Given the description of an element on the screen output the (x, y) to click on. 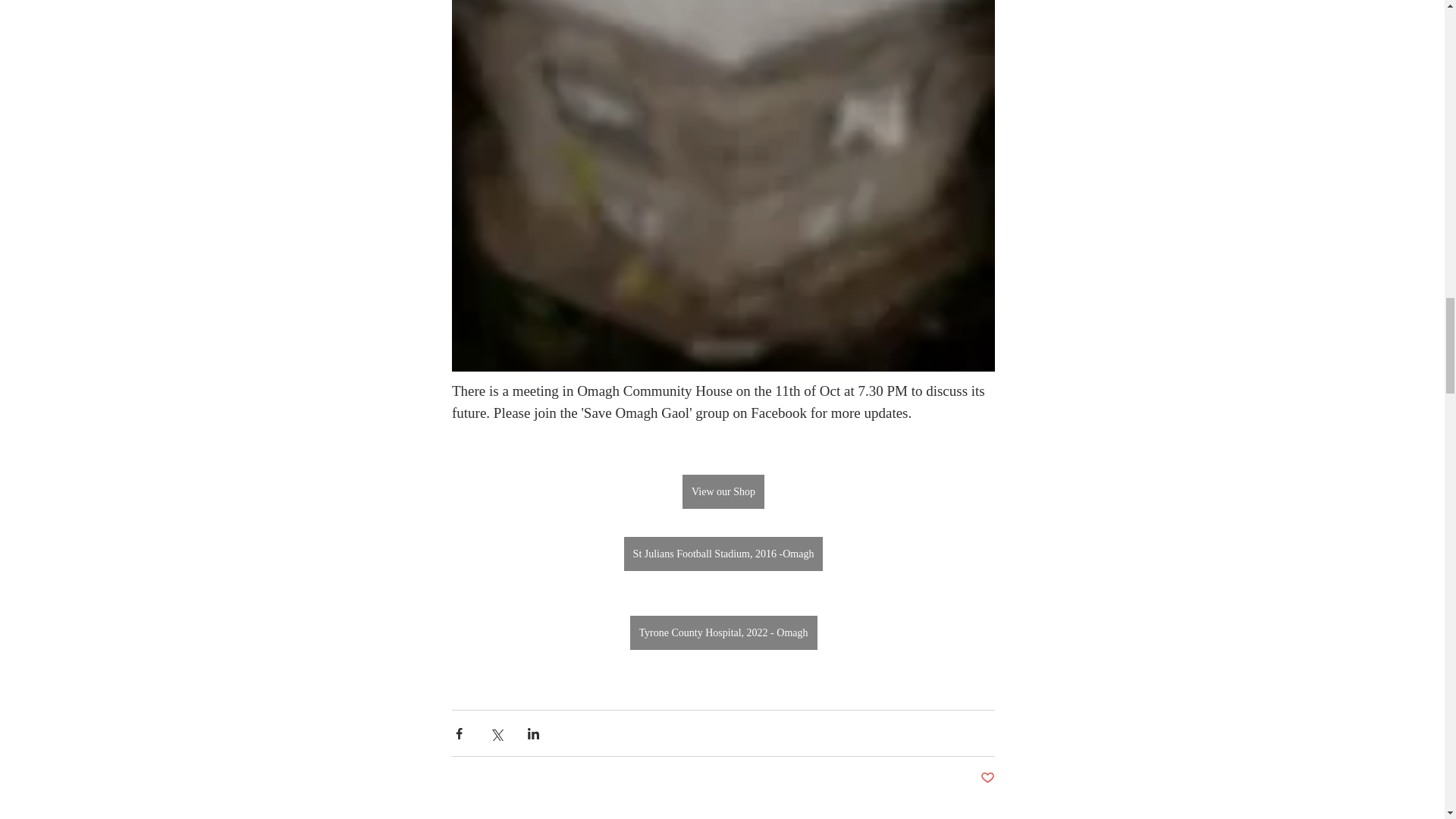
View our Shop (723, 491)
Tyrone County Hospital, 2022 - Omagh (722, 632)
Post not marked as liked (986, 778)
St Julians Football Stadium, 2016 -Omagh (722, 553)
